Given the description of an element on the screen output the (x, y) to click on. 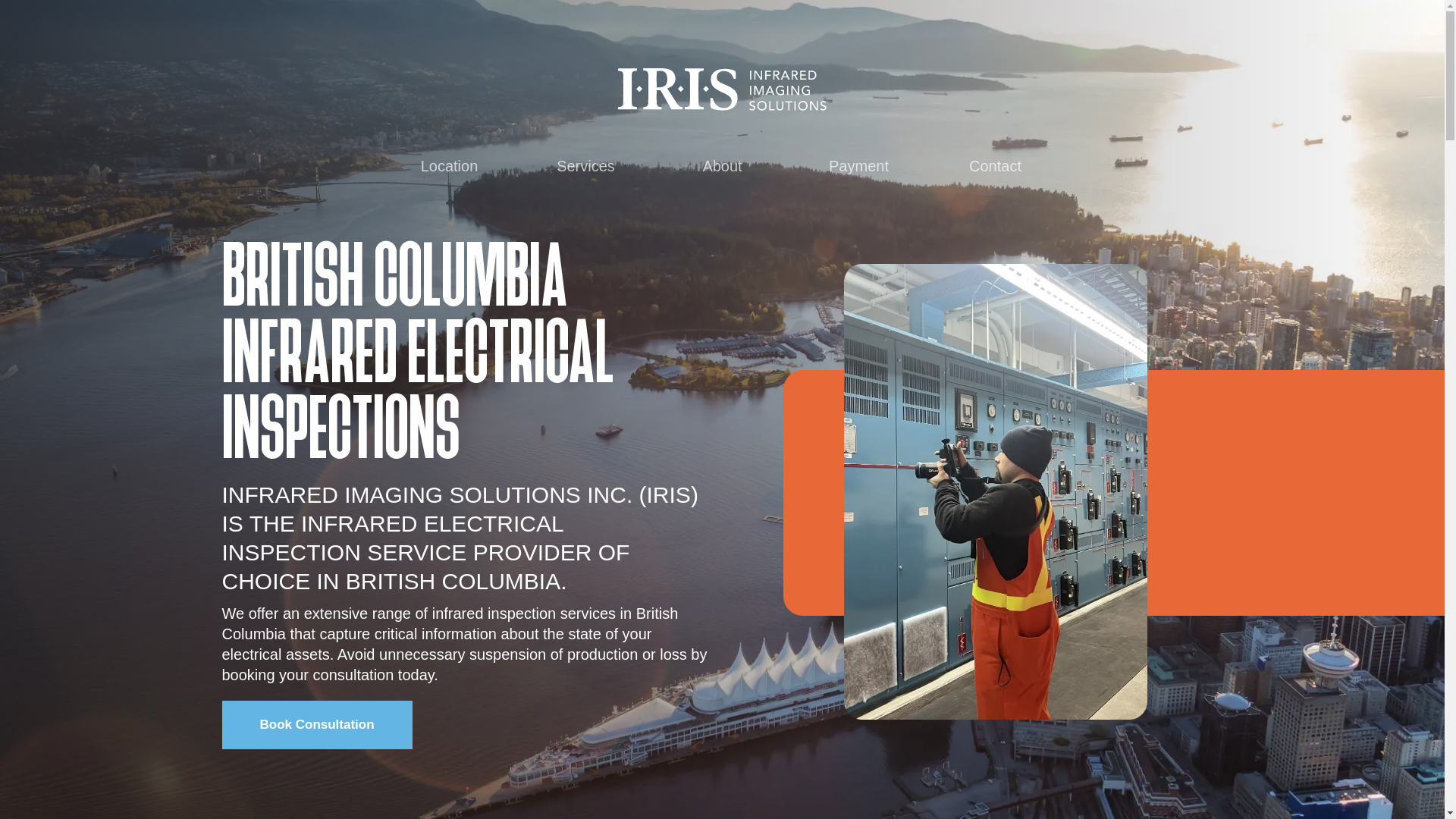
About (721, 166)
Services (585, 166)
Book Consultation (316, 725)
Location (449, 166)
Contact (995, 166)
Payment (858, 166)
